Given the description of an element on the screen output the (x, y) to click on. 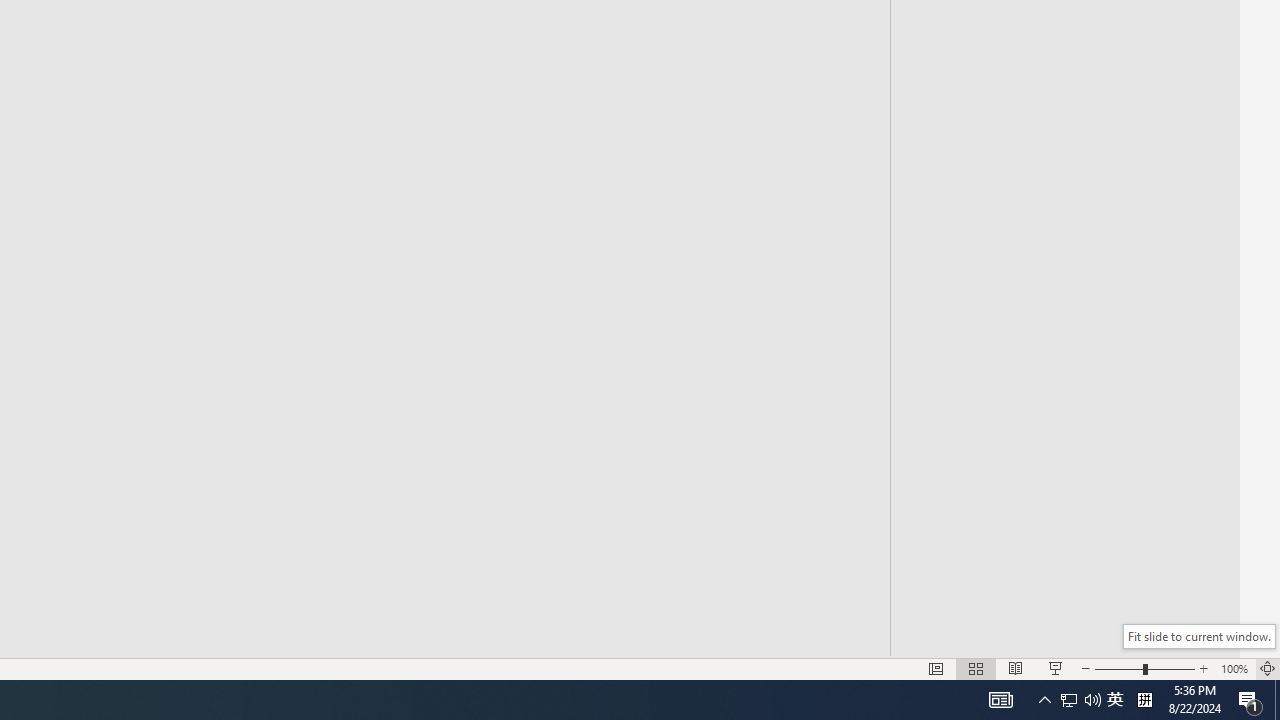
Zoom 100% (1234, 668)
Fit slide to current window. (1199, 636)
